Given the description of an element on the screen output the (x, y) to click on. 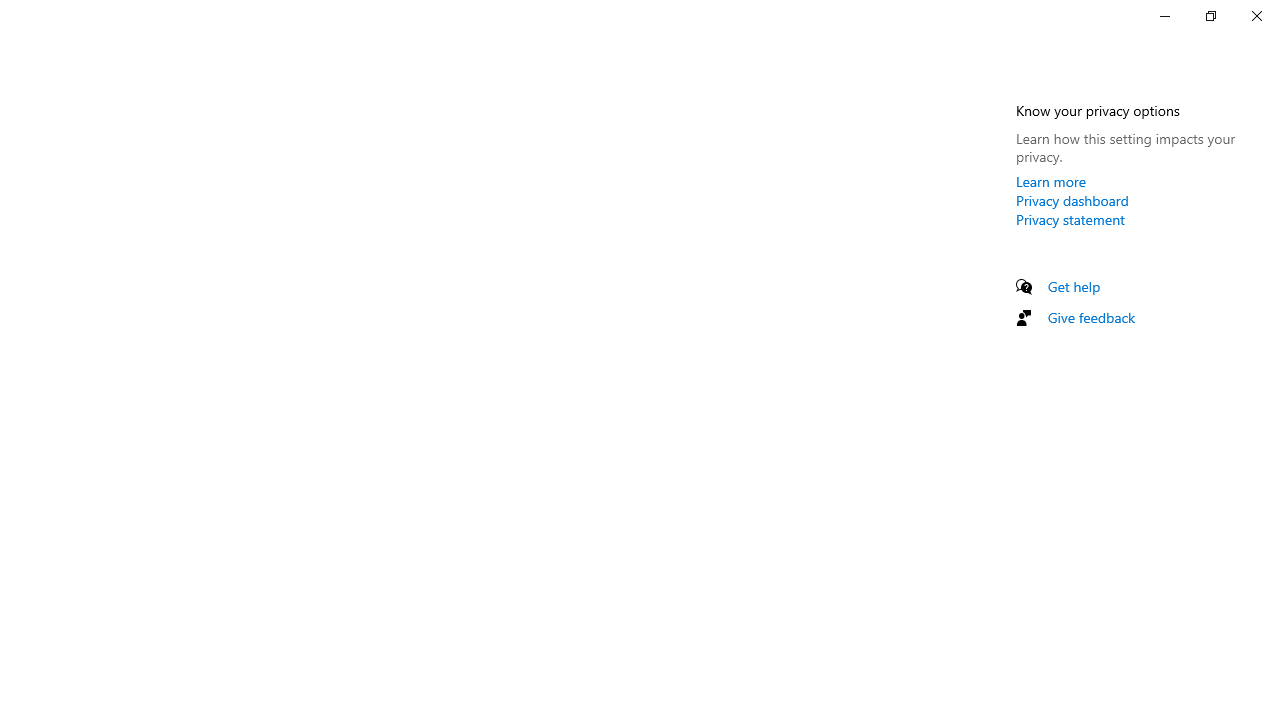
Learn more (1051, 181)
Get help (1074, 286)
Restore Settings (1210, 15)
Give feedback (1091, 317)
Privacy dashboard (1072, 200)
Minimize Settings (1164, 15)
Privacy statement (1070, 219)
Close Settings (1256, 15)
